Given the description of an element on the screen output the (x, y) to click on. 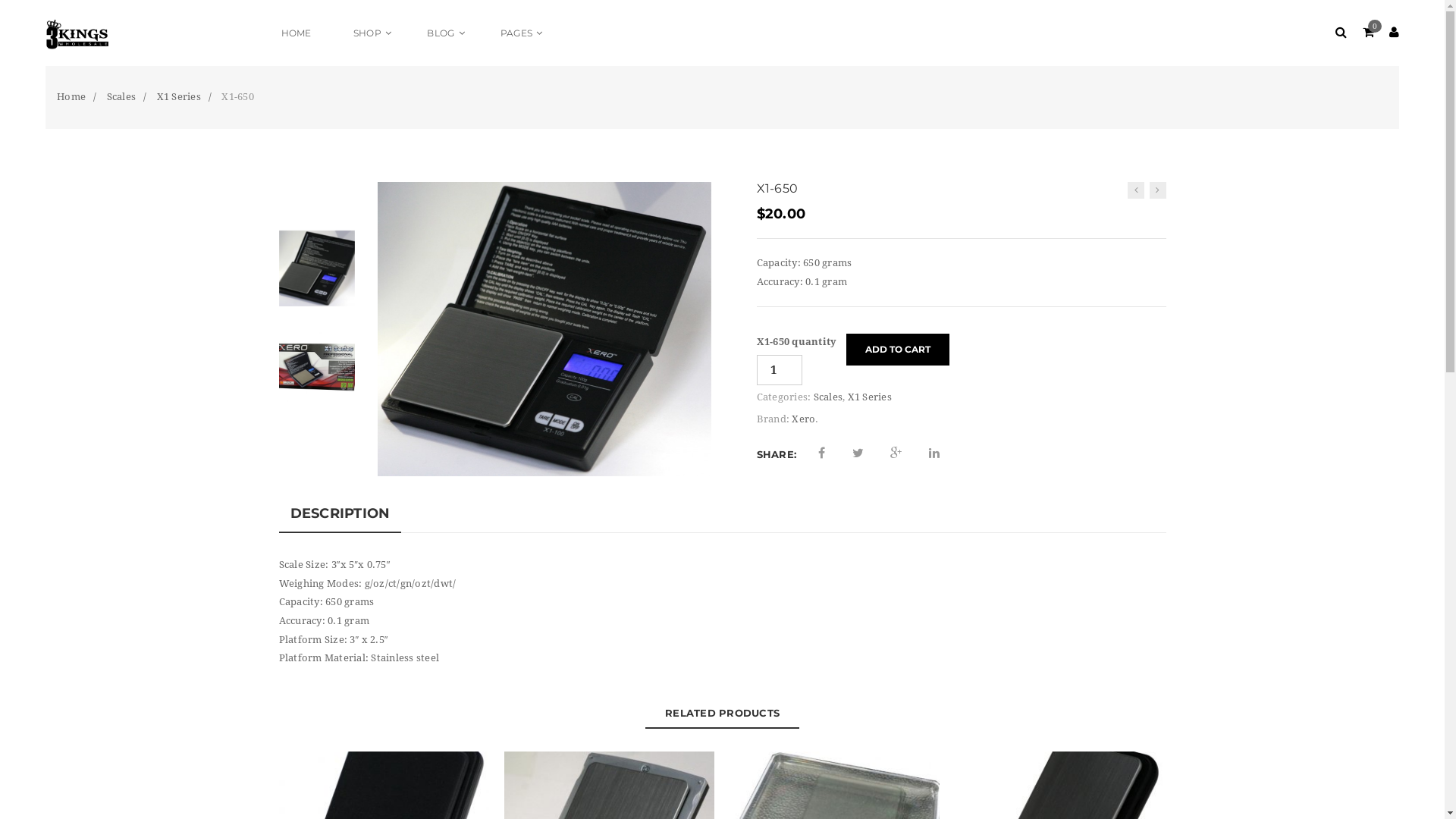
Share on Linked In Element type: hover (933, 453)
X1-100 Element type: hover (544, 329)
V-One Wax Pen Element type: hover (1157, 190)
ADD TO CART Element type: text (897, 349)
X1-100 Element type: hover (544, 327)
X1-100 Element type: hover (316, 268)
My Account Element type: hover (1394, 32)
Scales Element type: text (120, 96)
HOME Element type: text (296, 32)
X1-100 Element type: hover (316, 267)
Home Element type: text (70, 96)
Share on Facebook Element type: hover (821, 453)
Share on Google + Element type: hover (895, 453)
X2-100 Element type: hover (1135, 190)
Share on Twitter Element type: hover (857, 453)
Scales Element type: text (827, 396)
X1 Series Element type: text (869, 396)
X1 Series Element type: text (178, 96)
x1-box Element type: hover (316, 365)
SHOP Element type: text (368, 32)
0 Element type: text (1367, 32)
PAGES Element type: text (517, 32)
3Kings Wholesale Element type: hover (153, 32)
Xero Element type: text (803, 418)
BLOG Element type: text (442, 32)
Qty Element type: hover (779, 369)
DESCRIPTION Element type: text (340, 514)
